Given the description of an element on the screen output the (x, y) to click on. 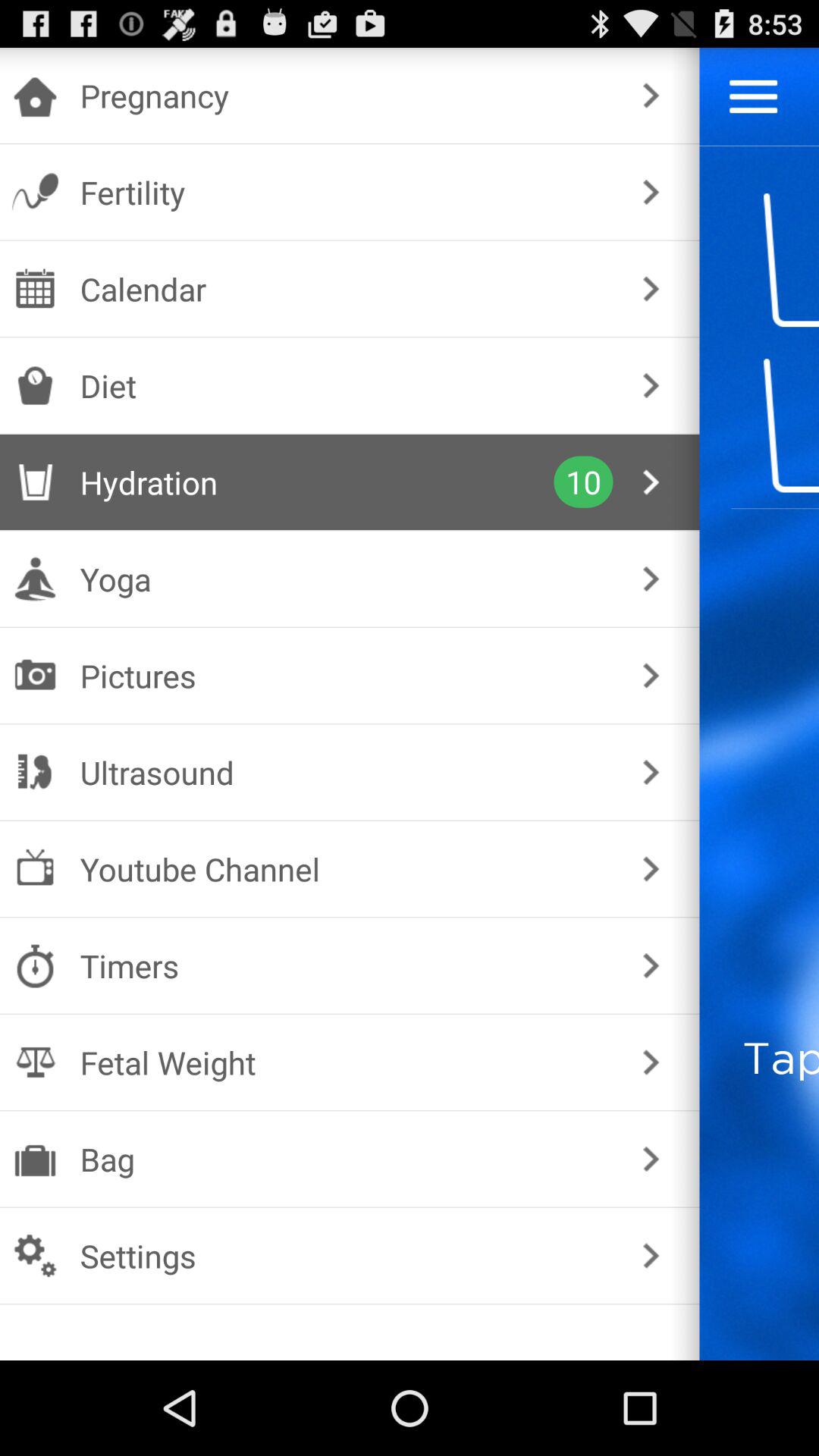
jump until bag checkbox (346, 1158)
